Given the description of an element on the screen output the (x, y) to click on. 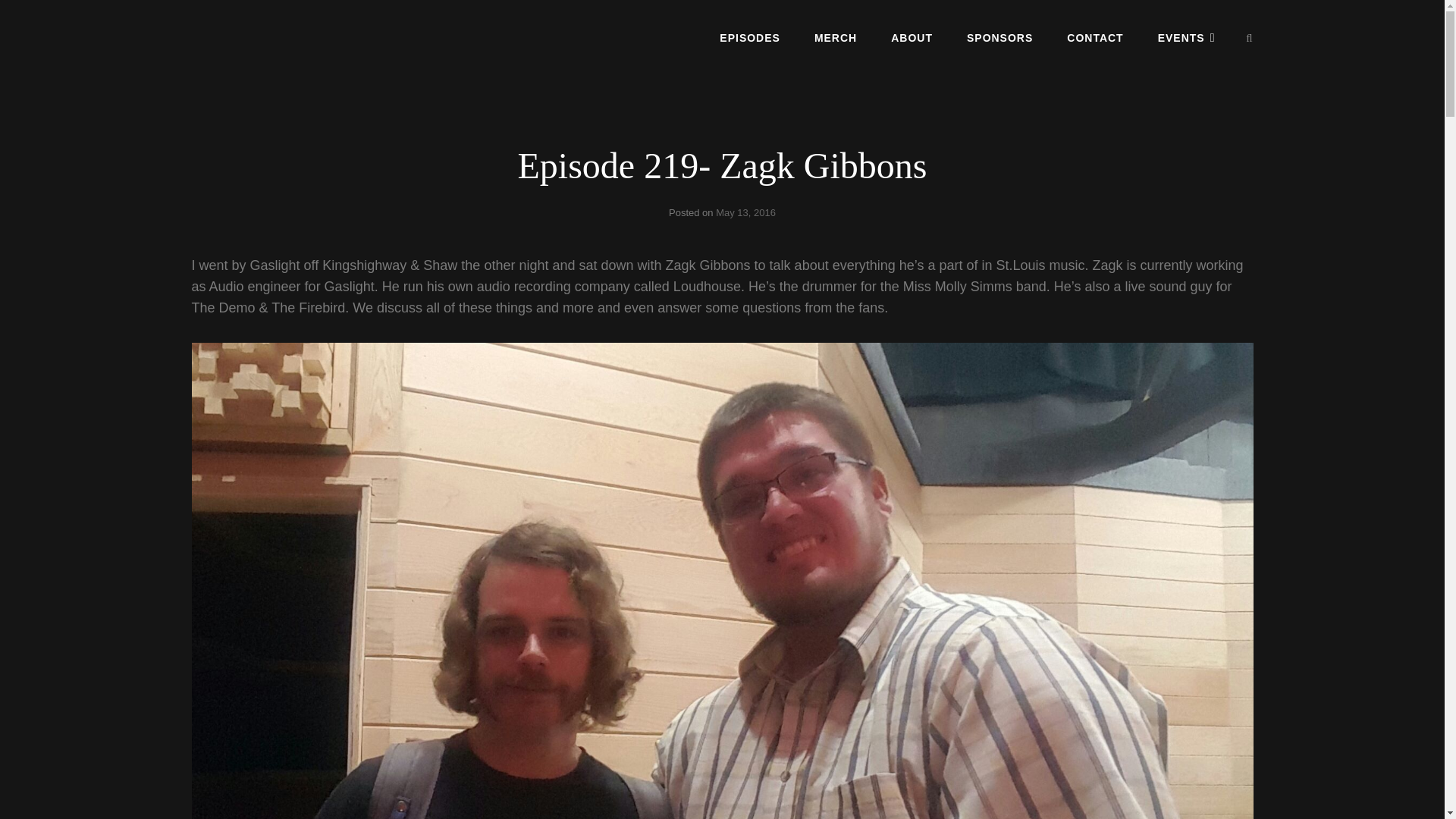
May 13, 2016 (746, 212)
ABOUT (911, 37)
MERCH (835, 37)
EVENTS (1186, 37)
SPONSORS (1000, 37)
EPISODES (749, 37)
ROCK PAPER PODCAST (304, 50)
SEARCH (1249, 37)
CONTACT (1094, 37)
